Given the description of an element on the screen output the (x, y) to click on. 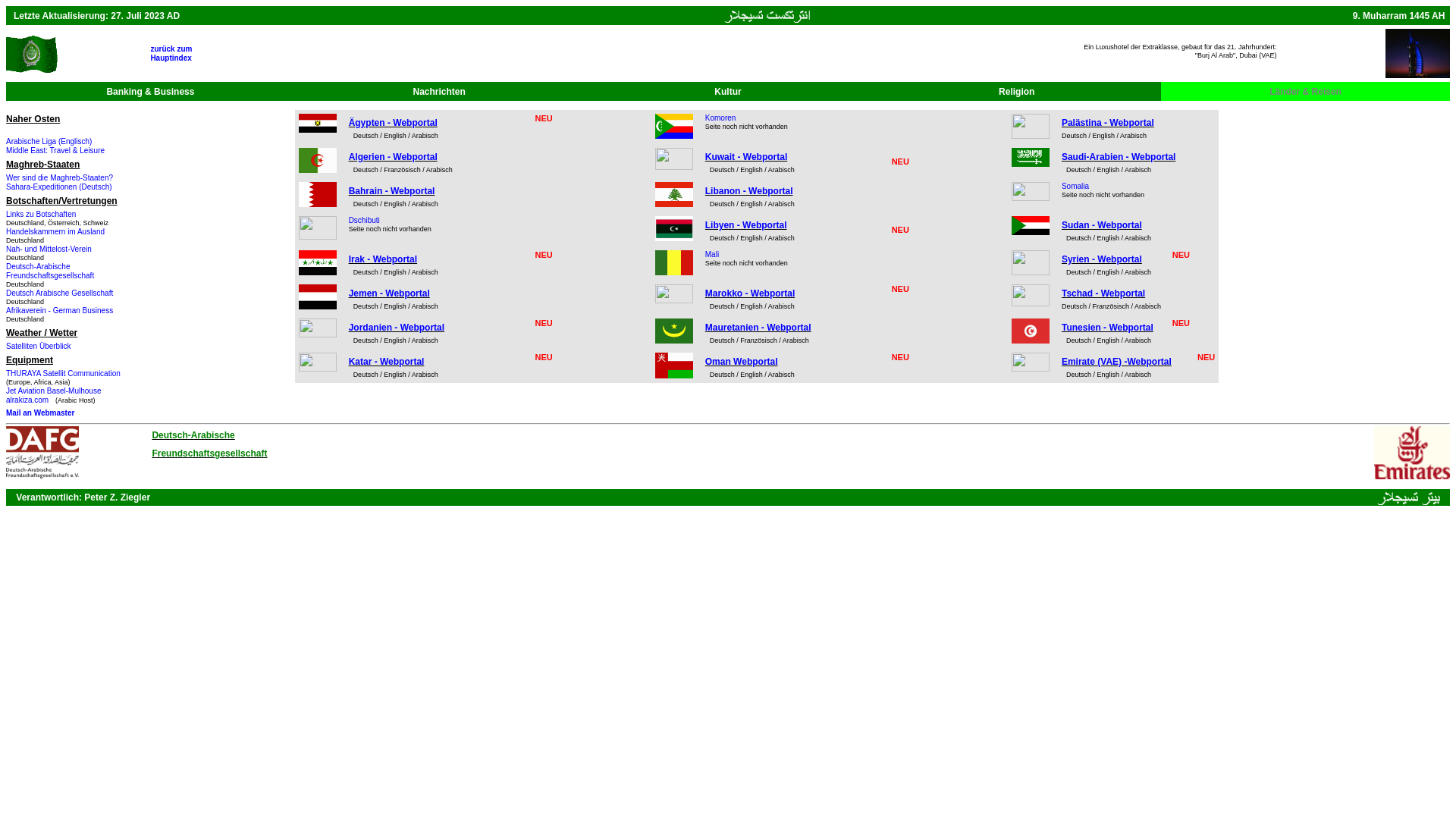
Sudan - Webportal Element type: text (1101, 224)
alrakiza.com Element type: text (28, 399)
Saudi-Arabien - Webportal Element type: text (1118, 156)
Arabische Liga (Englisch) Element type: text (48, 141)
Kuwait - Webportal Element type: text (746, 156)
Advertisement Element type: hover (669, 52)
Jemen - Webportal Element type: text (388, 293)
Libyen - Webportal Element type: text (746, 224)
Deutsch-Arabische
Freundschaftsgesellschaft Element type: text (208, 443)
Irak - Webportal Element type: text (382, 259)
Advertisement Element type: hover (1052, 448)
Afrikaverein - German Business Element type: text (59, 310)
Kultur Element type: text (727, 90)
Bahrain - Webportal Element type: text (391, 190)
Mauretanien - Webportal Element type: text (758, 327)
Jet Aviation Basel-Mulhouse Element type: text (53, 390)
Emirate (VAE) -Webportal Element type: text (1116, 361)
Tunesien - Webportal Element type: text (1107, 327)
Oman Webportal Element type: text (741, 361)
Deutsch-Arabische
Freundschaftsgesellschaft Element type: text (50, 270)
Syrien - Webportal Element type: text (1101, 259)
Nah- und Mittelost-Verein Element type: text (48, 248)
Middle East: Travel & Leisure Element type: text (55, 150)
Algerien - Webportal Element type: text (392, 156)
Katar - Webportal Element type: text (386, 361)
Advertisement Element type: hover (547, 448)
Sahara-Expeditionen (Deutsch) Element type: text (59, 186)
Wer sind die Maghreb-Staaten? Element type: text (59, 177)
Religion Element type: text (1016, 90)
THURAYA Satellit Communication Element type: text (63, 373)
Banking & Business Element type: text (150, 91)
Tschad - Webportal Element type: text (1103, 293)
Deutsch Arabische Gesellschaft Element type: text (59, 292)
Nachrichten Element type: text (439, 90)
Links zu Botschaften Element type: text (40, 214)
Handelskammern im Ausland Element type: text (55, 231)
Mail an Webmaster Element type: text (40, 412)
Libanon - Webportal Element type: text (749, 190)
Jordanien - Webportal Element type: text (396, 327)
Marokko - Webportal Element type: text (749, 293)
